Given the description of an element on the screen output the (x, y) to click on. 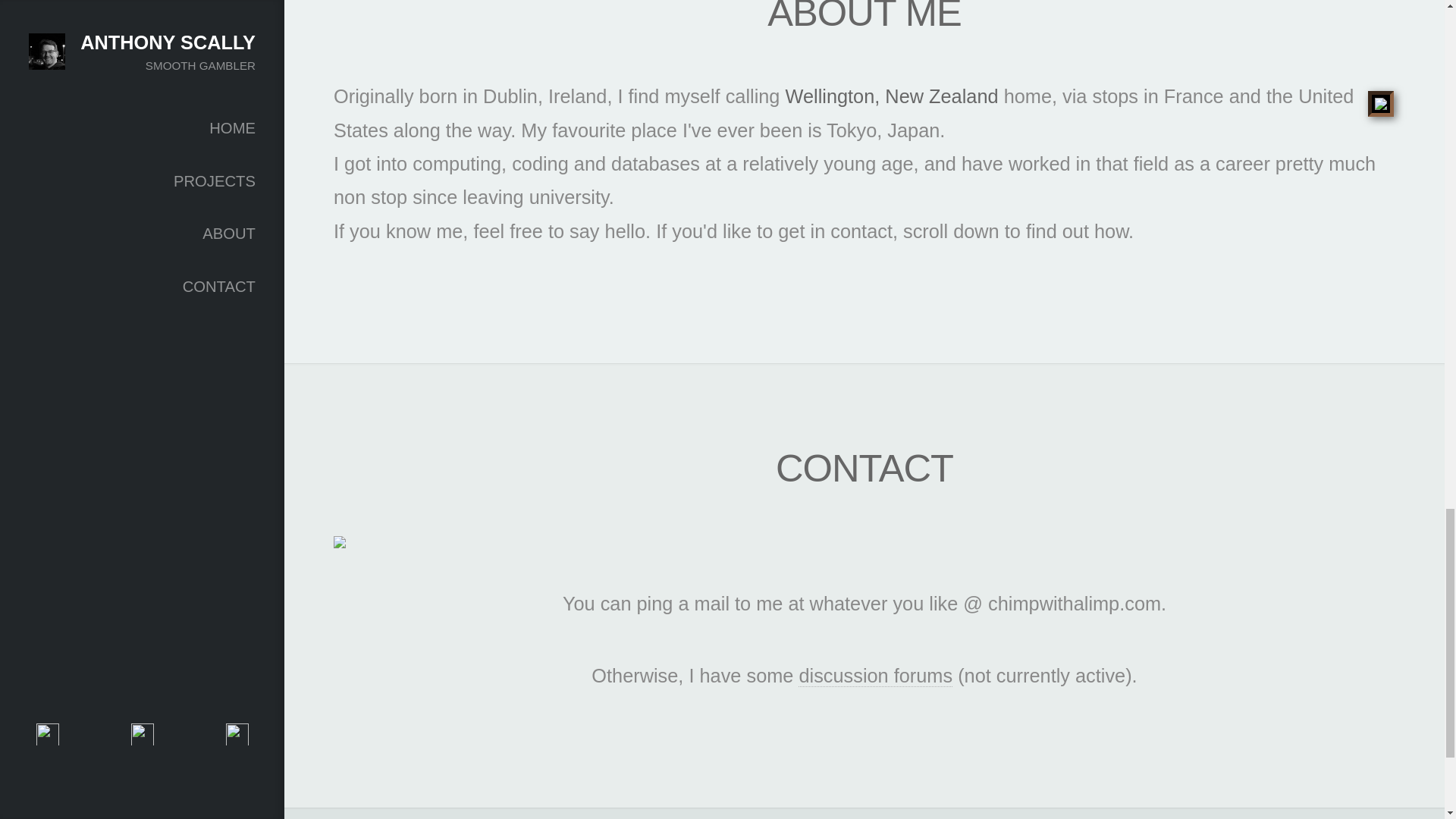
discussion forums (874, 676)
